Given the description of an element on the screen output the (x, y) to click on. 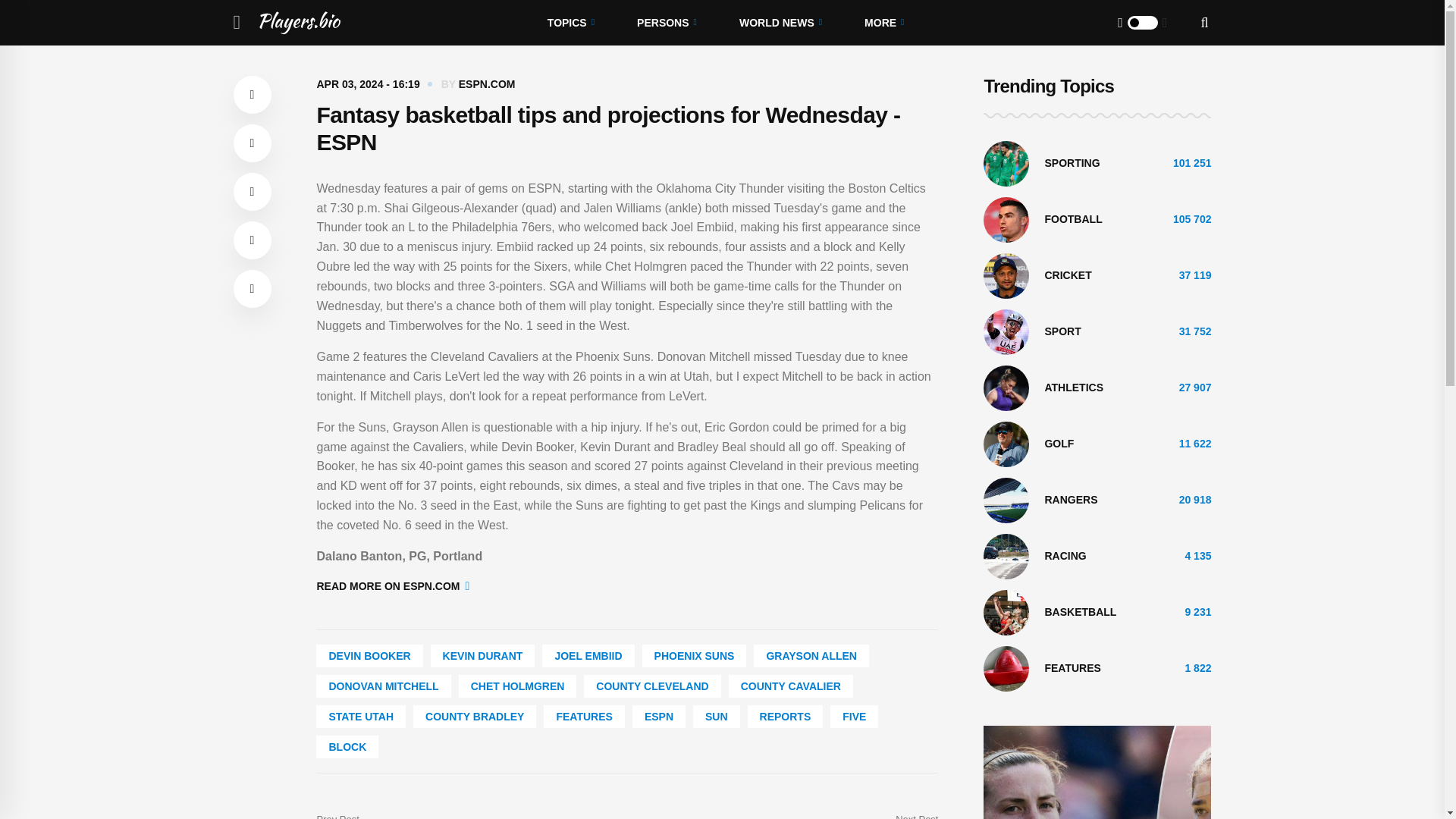
Persons (666, 22)
WORLD NEWS (780, 22)
Topics (570, 22)
TOPICS (570, 22)
MORE (883, 22)
PERSONS (666, 22)
